Given the description of an element on the screen output the (x, y) to click on. 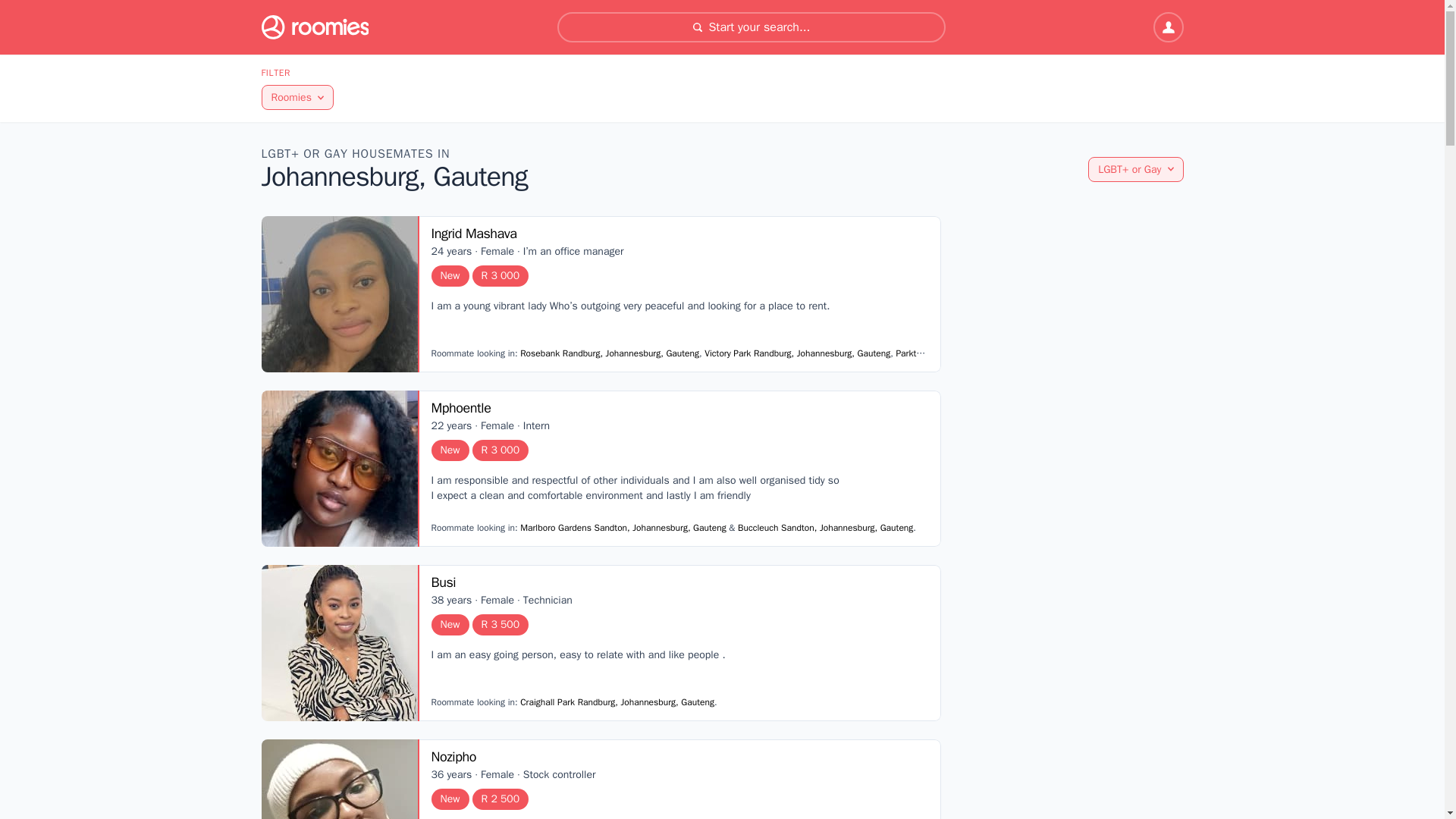
Craighall Park Randburg, Johannesburg, Gauteng (616, 702)
Login (1167, 27)
Login (1167, 27)
Roomies (296, 97)
Marlboro Gardens Sandton, Johannesburg, Gauteng (622, 527)
Rosebank Randburg, Johannesburg, Gauteng (608, 353)
Parktown North Randburg, Johannesburg, Gauteng (995, 353)
Buccleuch Sandton, Johannesburg, Gauteng (825, 527)
Start your search... (750, 27)
Victory Park Randburg, Johannesburg, Gauteng (796, 353)
